Given the description of an element on the screen output the (x, y) to click on. 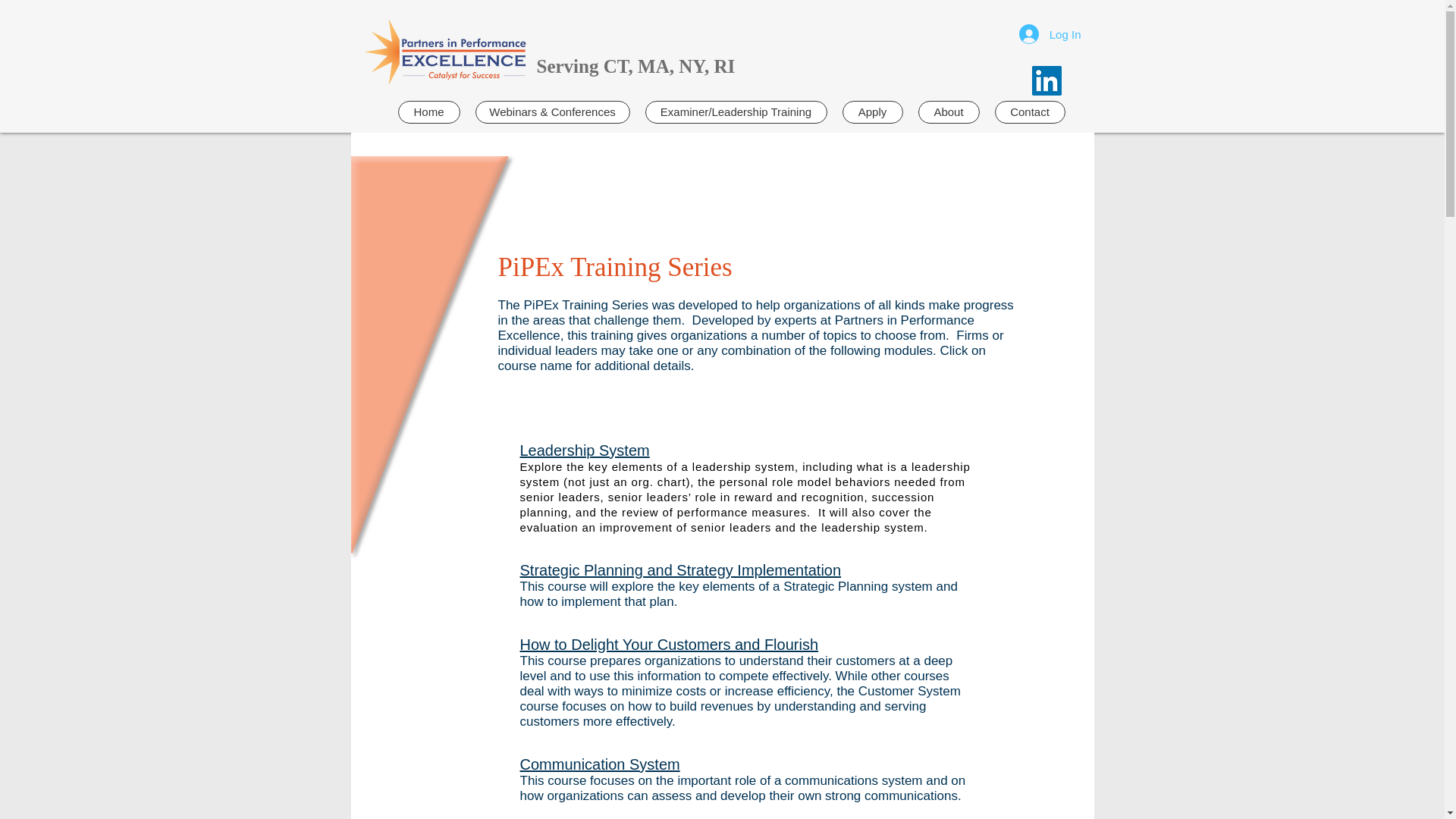
Communication System (599, 764)
Leadership System (584, 450)
Home (428, 111)
Strategic Planning and Strategy Implementation (680, 569)
How to Delight Your Customers and Flourish (668, 644)
About (947, 111)
Contact (1029, 111)
Log In (1050, 33)
